Given the description of an element on the screen output the (x, y) to click on. 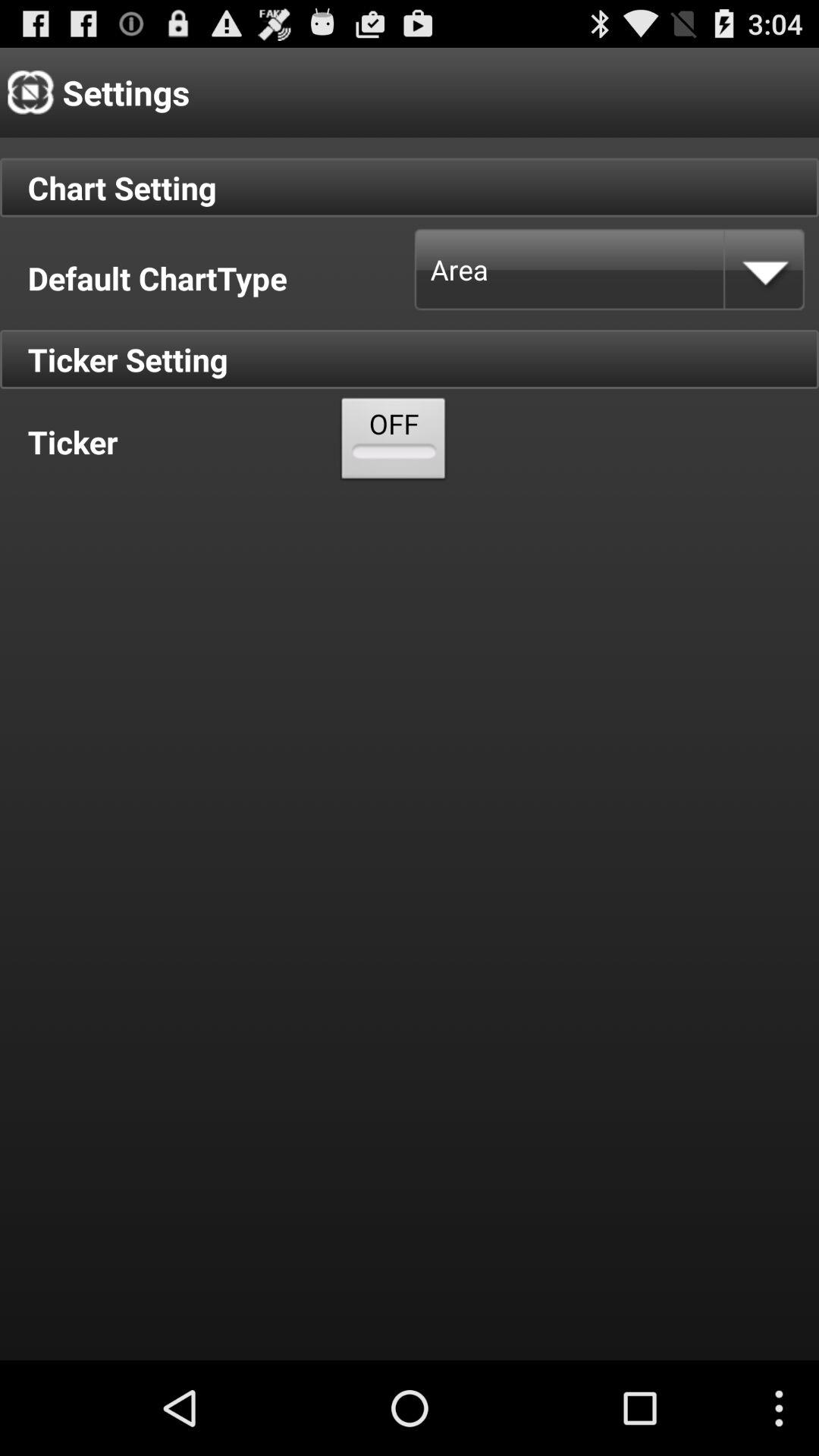
choose off icon (393, 441)
